Given the description of an element on the screen output the (x, y) to click on. 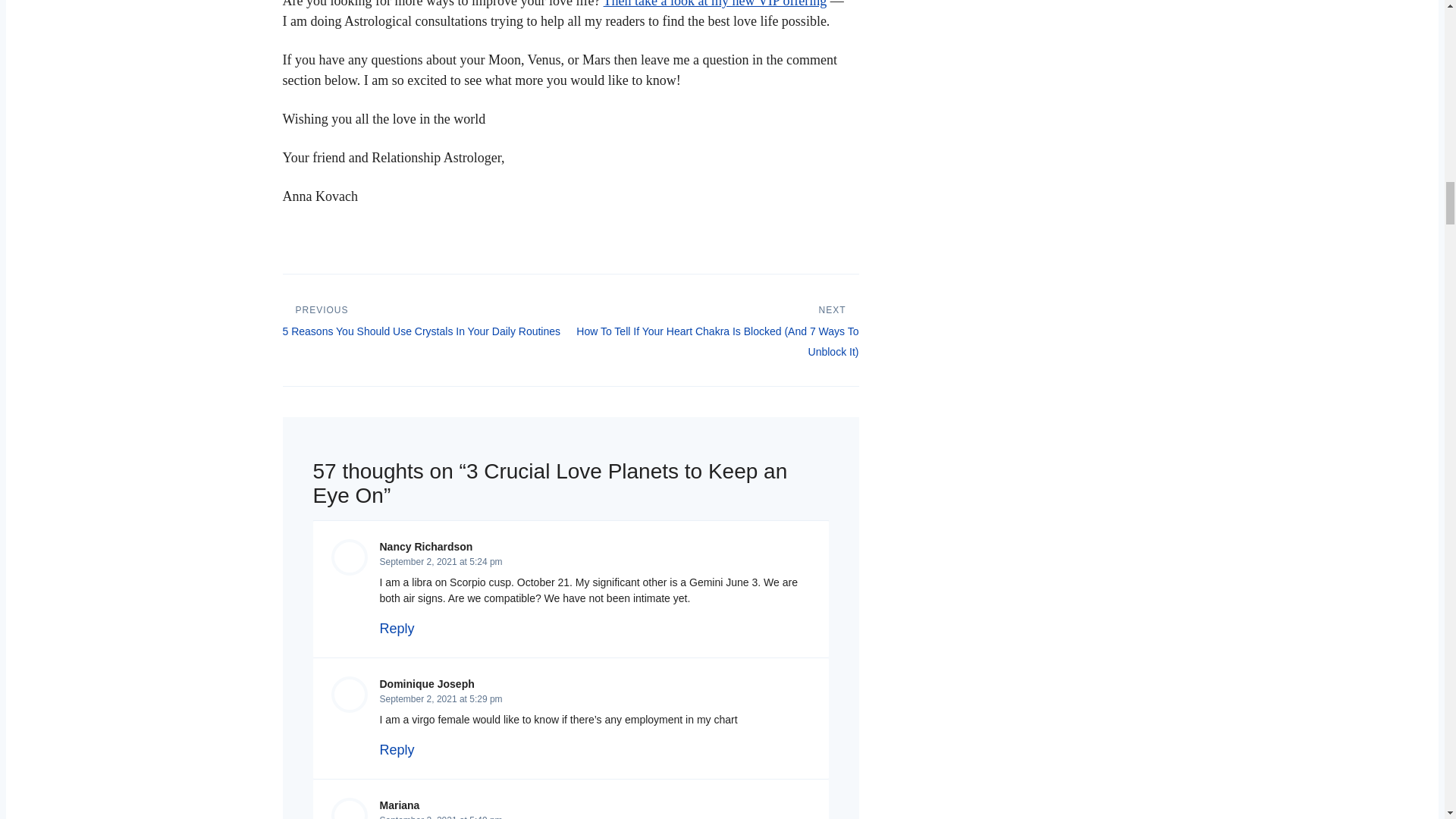
September 2, 2021 at 5:24 pm (440, 561)
September 2, 2021 at 5:29 pm (440, 698)
Then take a look at my new VIP offering (715, 4)
Reply (395, 749)
Reply (395, 628)
September 2, 2021 at 5:49 pm (440, 816)
